Given the description of an element on the screen output the (x, y) to click on. 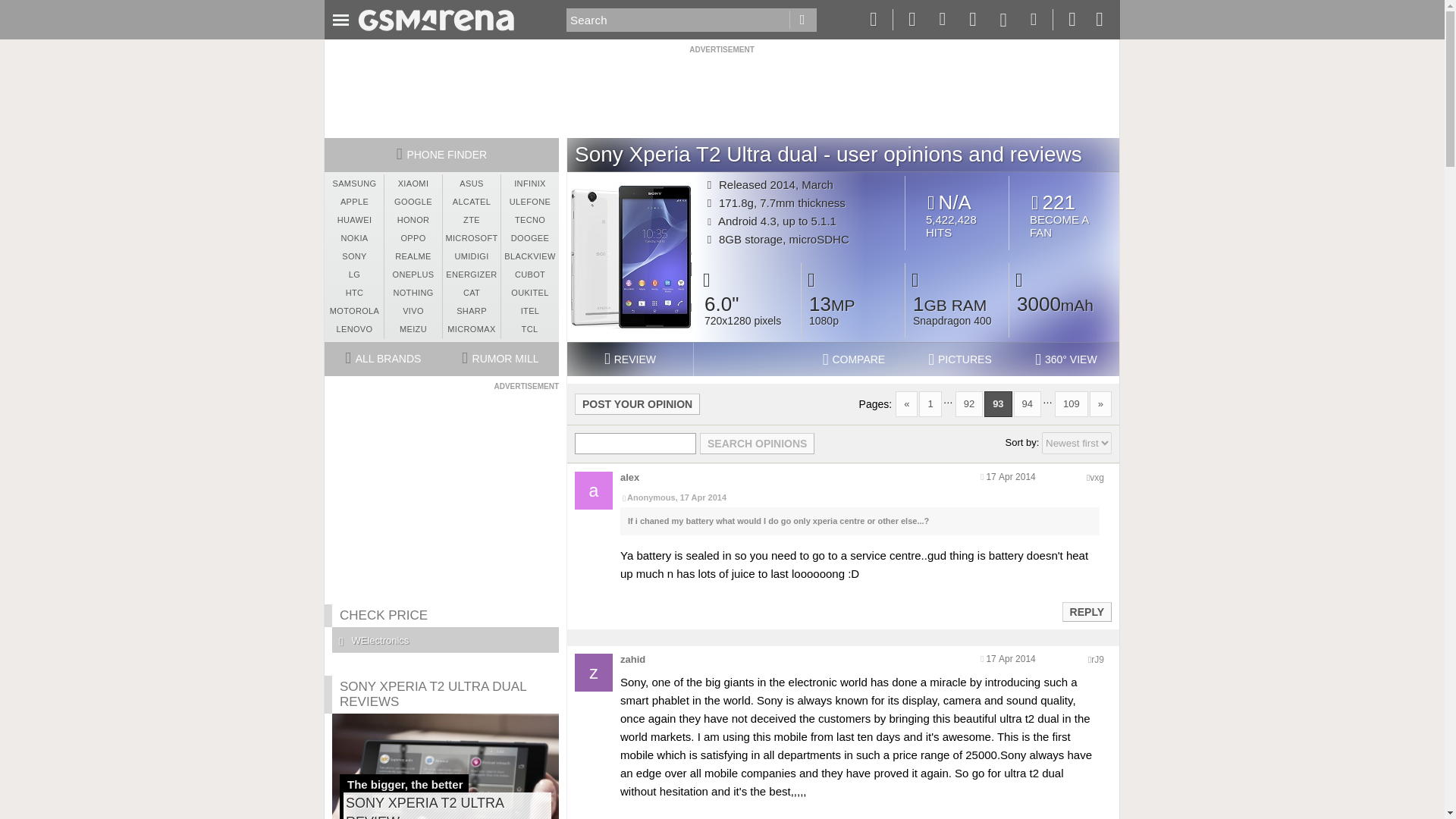
Go (802, 19)
Encoded anonymized location (1096, 477)
Encoded anonymized location (1096, 659)
Reply to this post (1086, 612)
Sort comments by (1077, 443)
POST YOUR OPINION (637, 403)
Search opinions (756, 443)
PICTURES (960, 359)
REVIEW (630, 359)
Go (802, 19)
COMPARE (1064, 214)
